Given the description of an element on the screen output the (x, y) to click on. 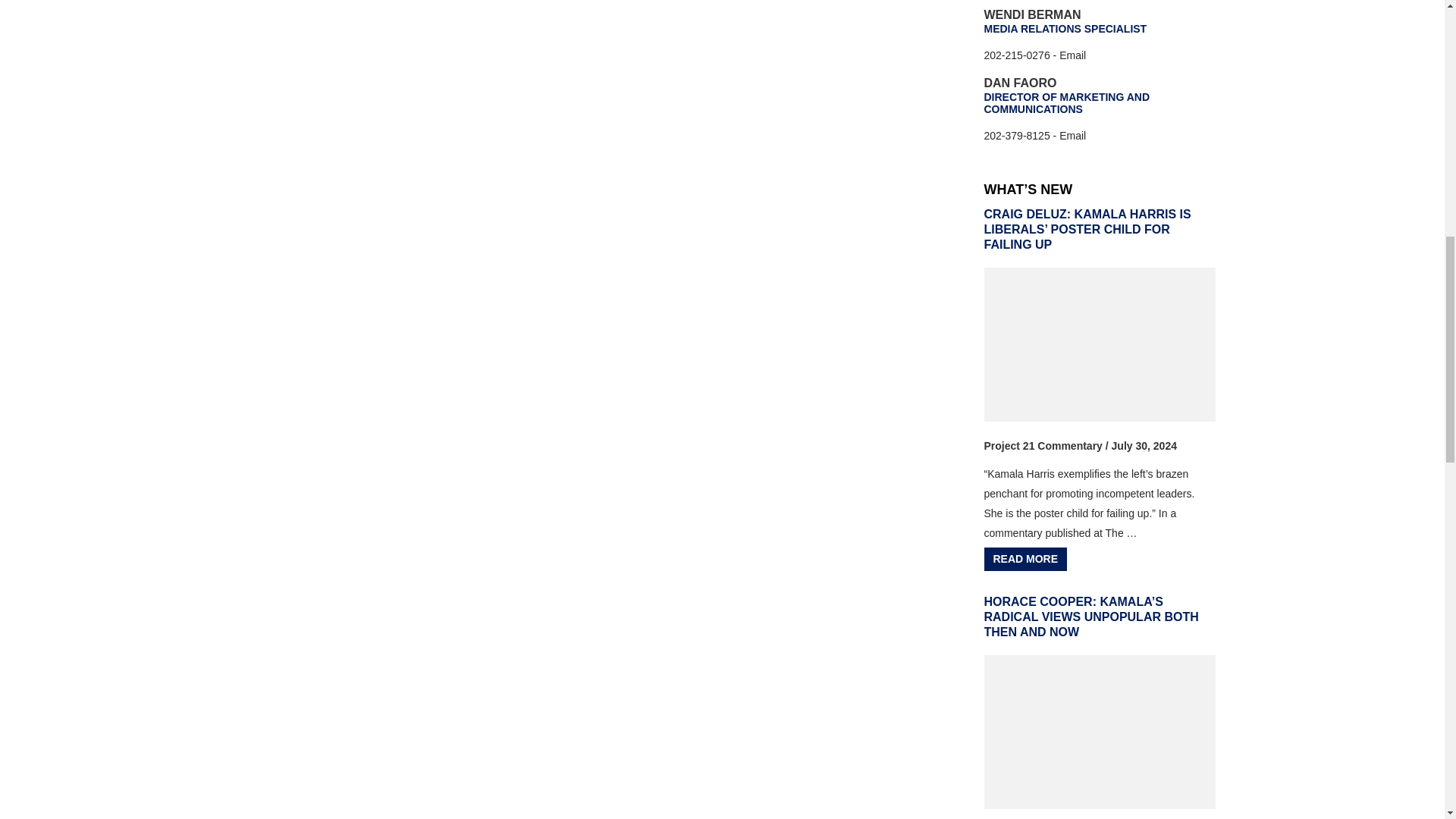
Project 21 Commentary (1043, 445)
